Given the description of an element on the screen output the (x, y) to click on. 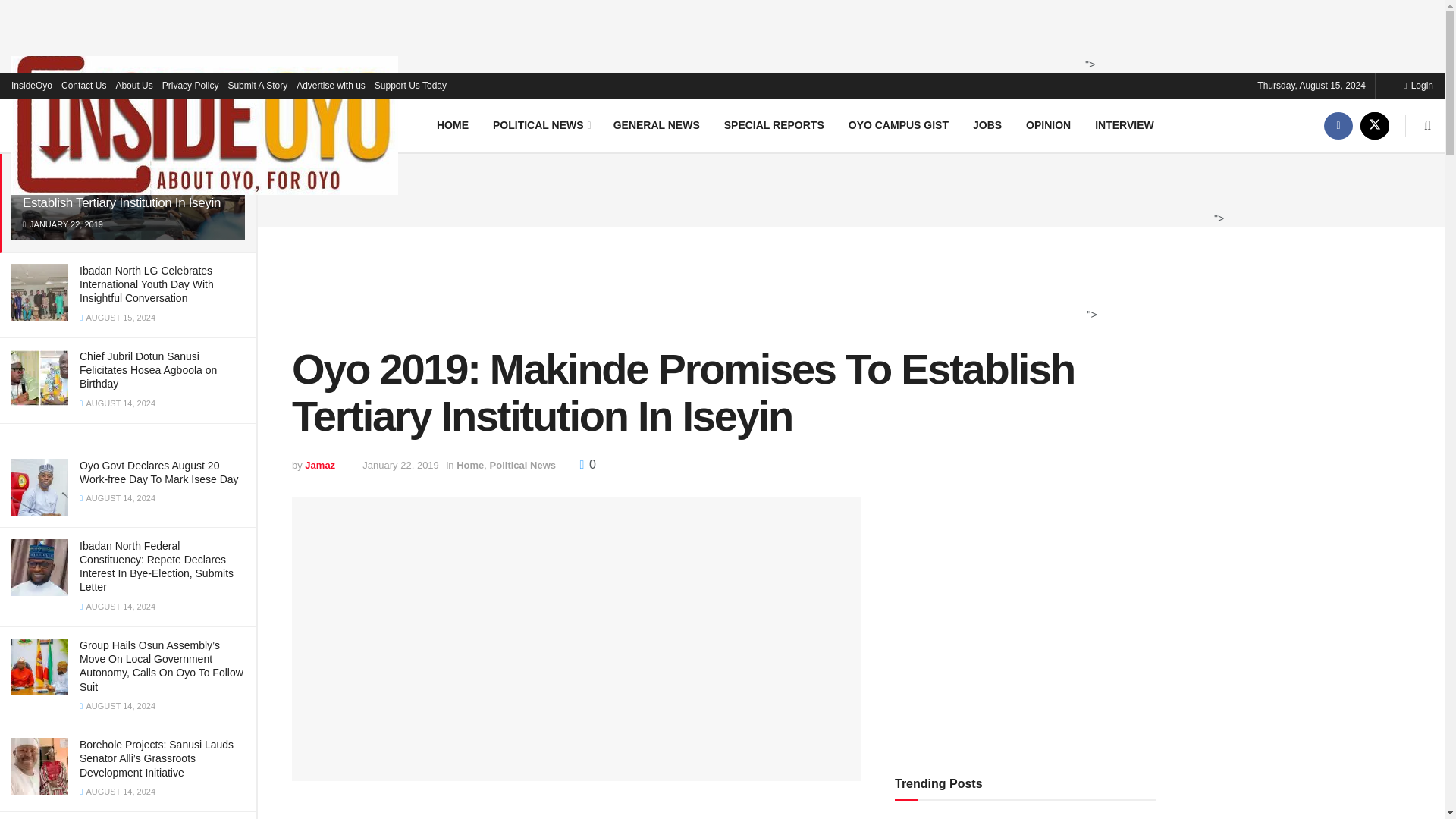
Submit A Story (256, 85)
HOME (452, 125)
Login (1417, 85)
Contact Us (83, 85)
Advertise with us (331, 85)
POLITICAL NEWS (540, 125)
Oyo Govt Declares August 20 Work-free Day To Mark Isese Day (159, 472)
Advertisement (846, 187)
Filter (227, 96)
